Given the description of an element on the screen output the (x, y) to click on. 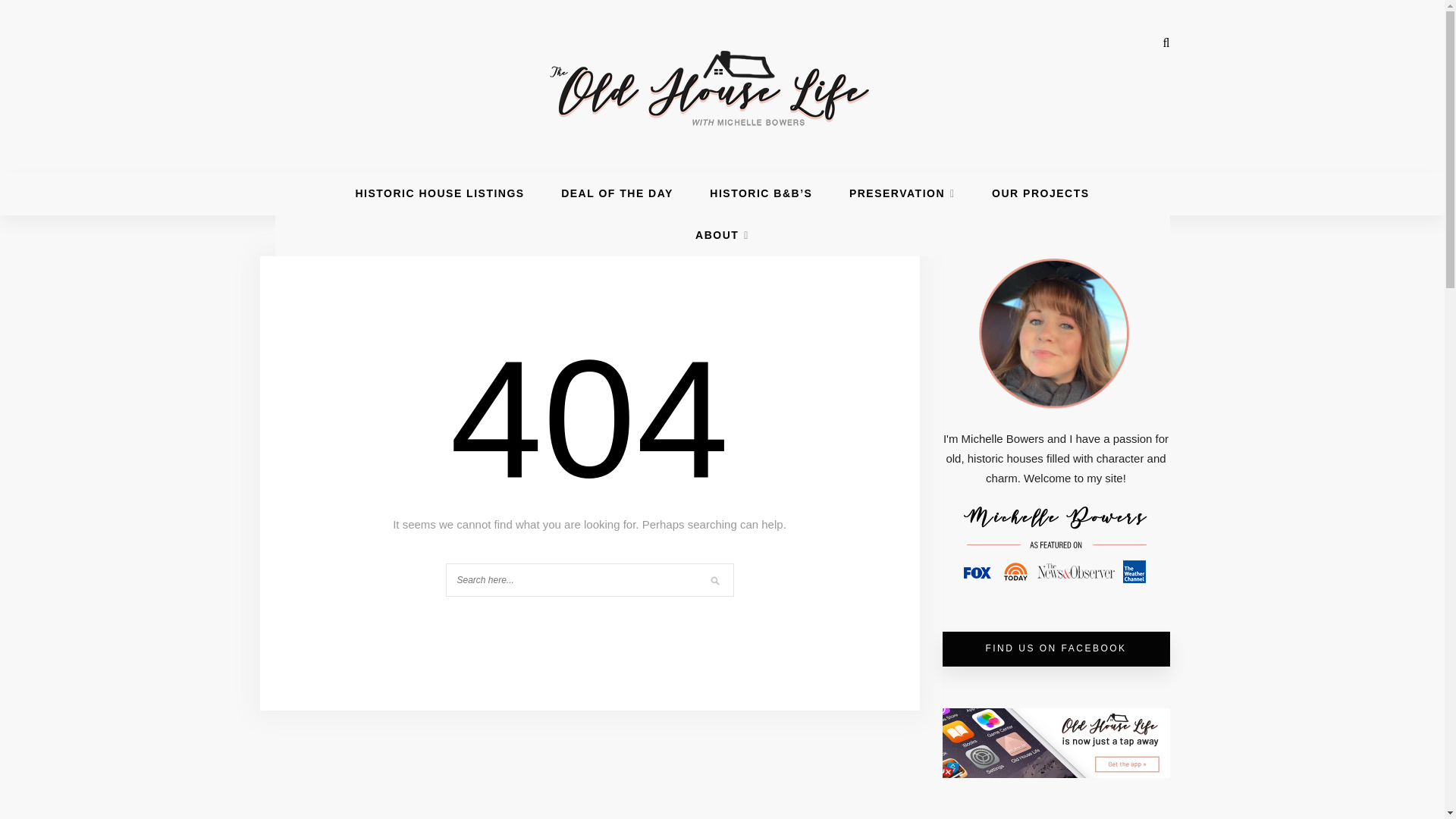
ABOUT (722, 235)
HISTORIC HOUSE LISTINGS (439, 192)
PRESERVATION (901, 193)
DEAL OF THE DAY (616, 192)
OUR PROJECTS (1040, 192)
